Given the description of an element on the screen output the (x, y) to click on. 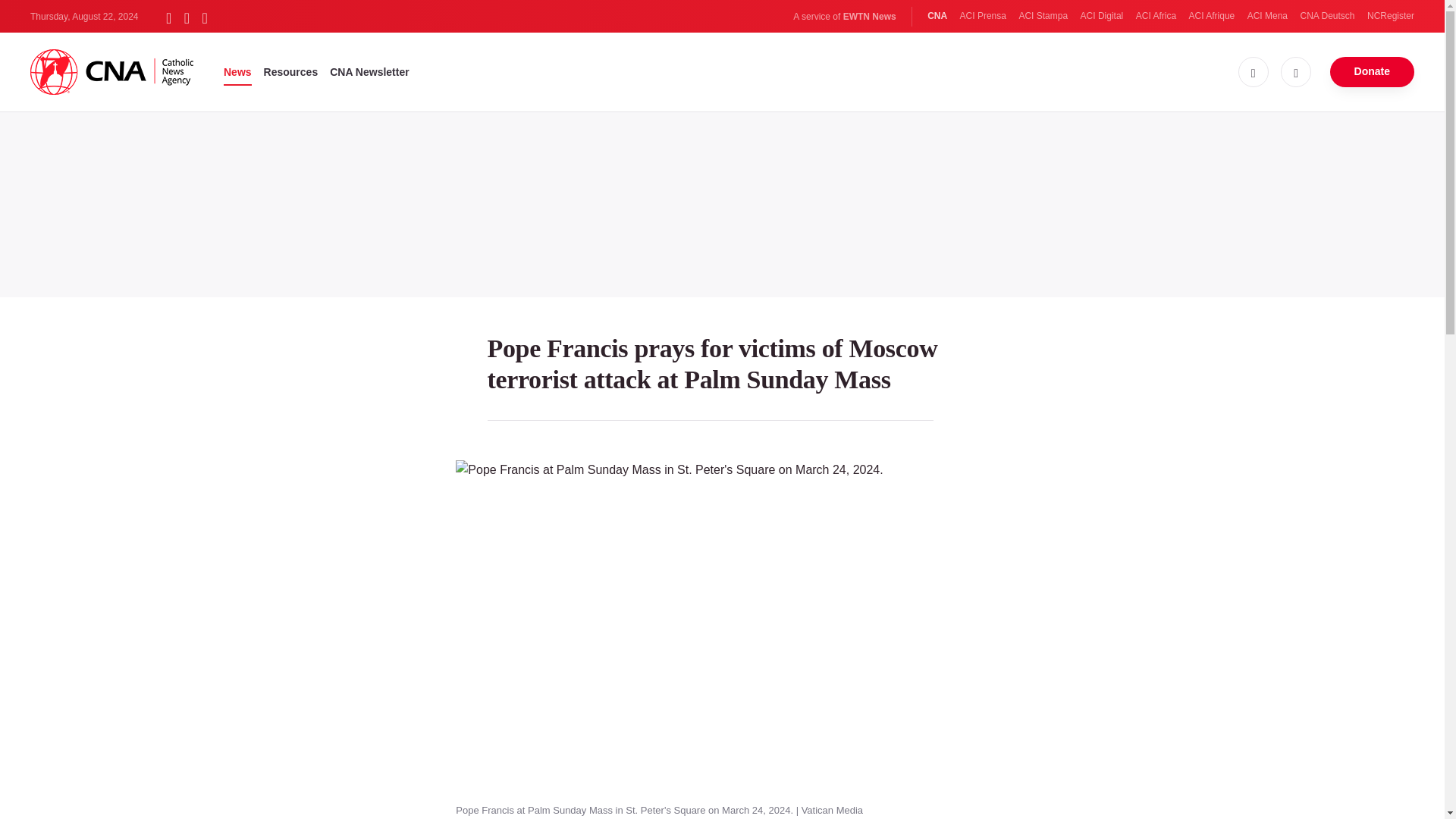
ACI Mena (1267, 16)
NCRegister (1390, 16)
ACI Prensa (982, 16)
CNA Deutsch (1327, 16)
ACI Digital (1102, 16)
EWTN News (869, 16)
ACI Stampa (1042, 16)
CNA (937, 16)
News (237, 71)
EWTN News (869, 16)
